Given the description of an element on the screen output the (x, y) to click on. 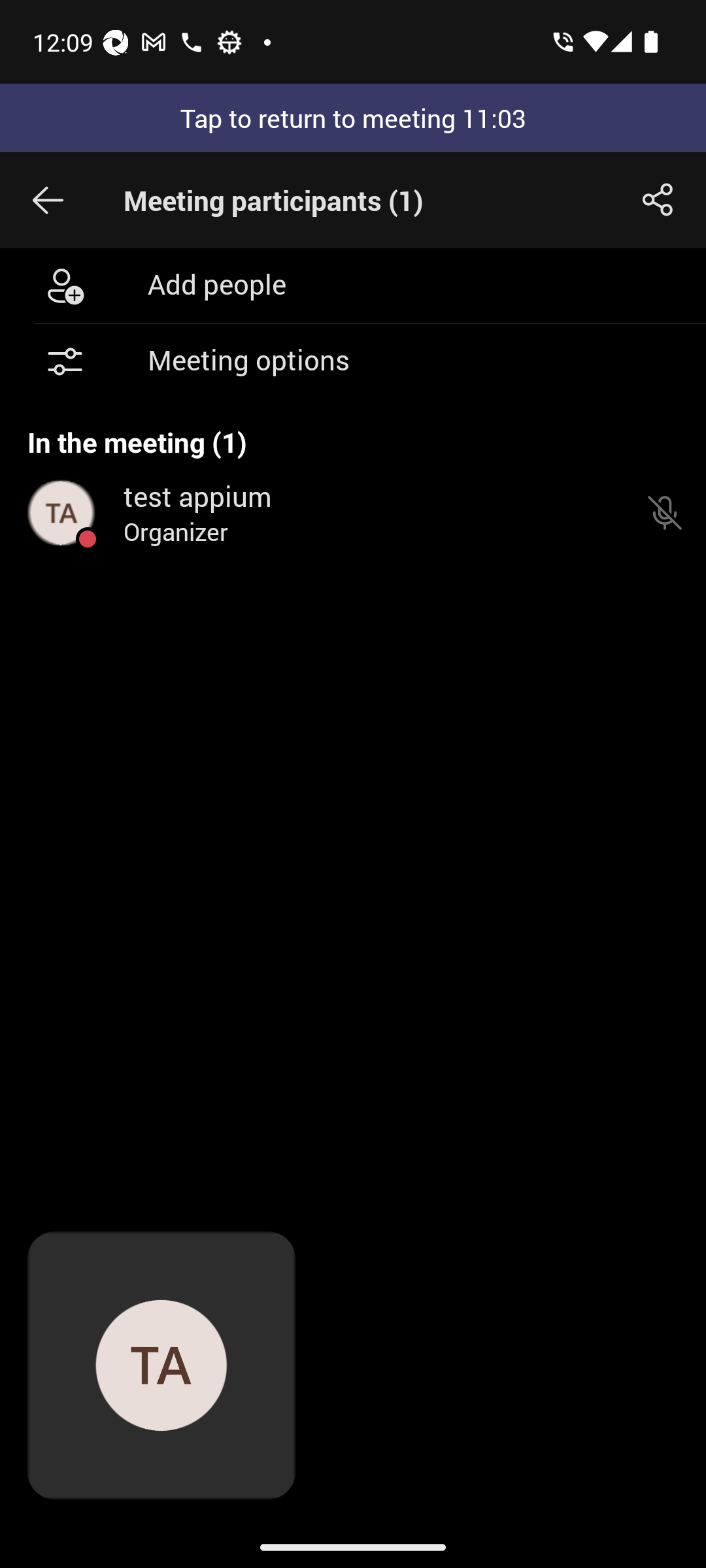
Tap to return to meeting 11:02 (353, 117)
Back (48, 199)
Share meeting invite (657, 199)
Add people (353, 285)
Meeting options (353, 361)
